Given the description of an element on the screen output the (x, y) to click on. 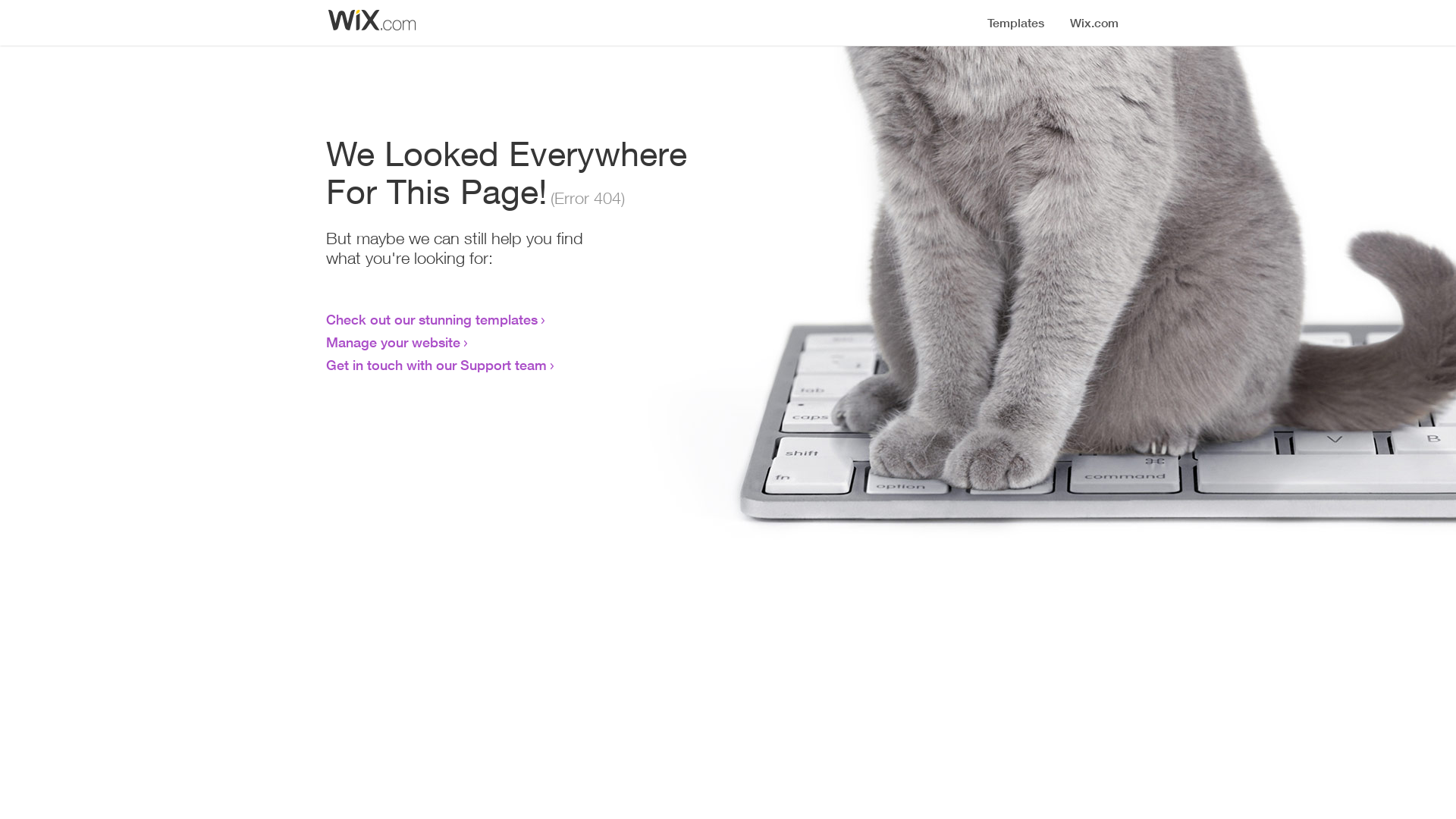
Get in touch with our Support team Element type: text (436, 364)
Manage your website Element type: text (393, 341)
Check out our stunning templates Element type: text (431, 318)
